Given the description of an element on the screen output the (x, y) to click on. 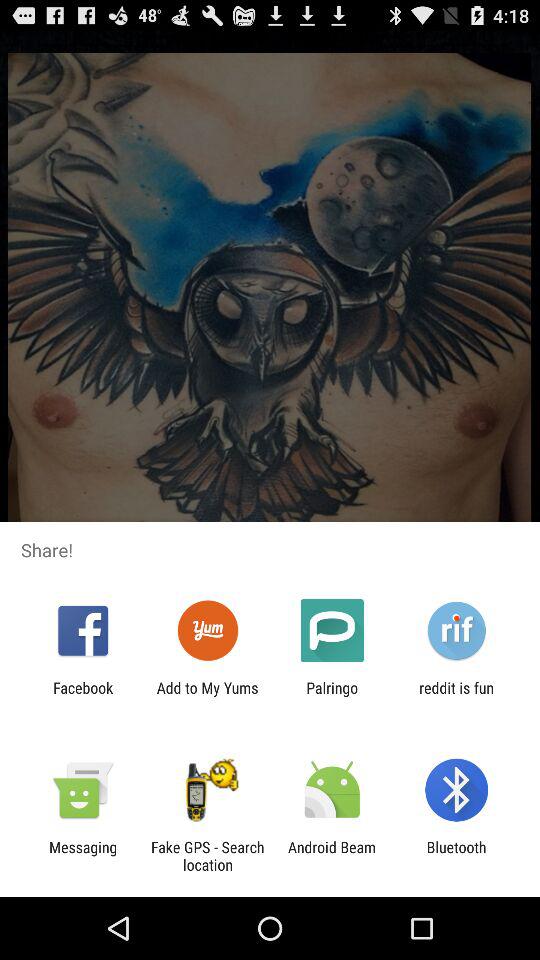
turn on icon to the left of the bluetooth icon (332, 856)
